Given the description of an element on the screen output the (x, y) to click on. 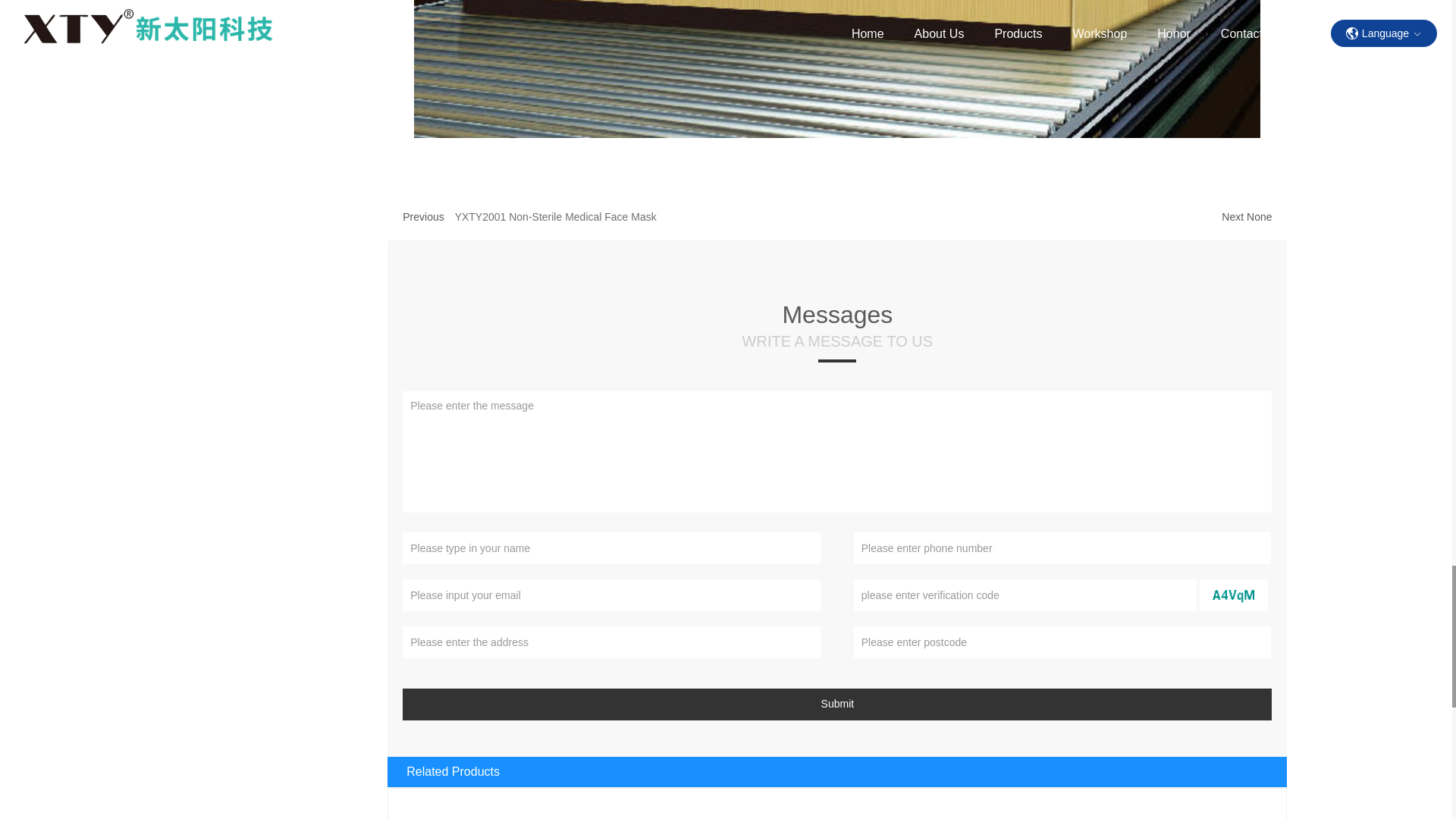
Newsun Technology (836, 69)
Newsun Technology (537, 794)
YXTY2001 Non-Sterile Medical Face Mask (555, 216)
Submit (837, 704)
Newsun Technology (1137, 794)
Newsun Technology (837, 794)
Newsun Technology (1233, 594)
